Given the description of an element on the screen output the (x, y) to click on. 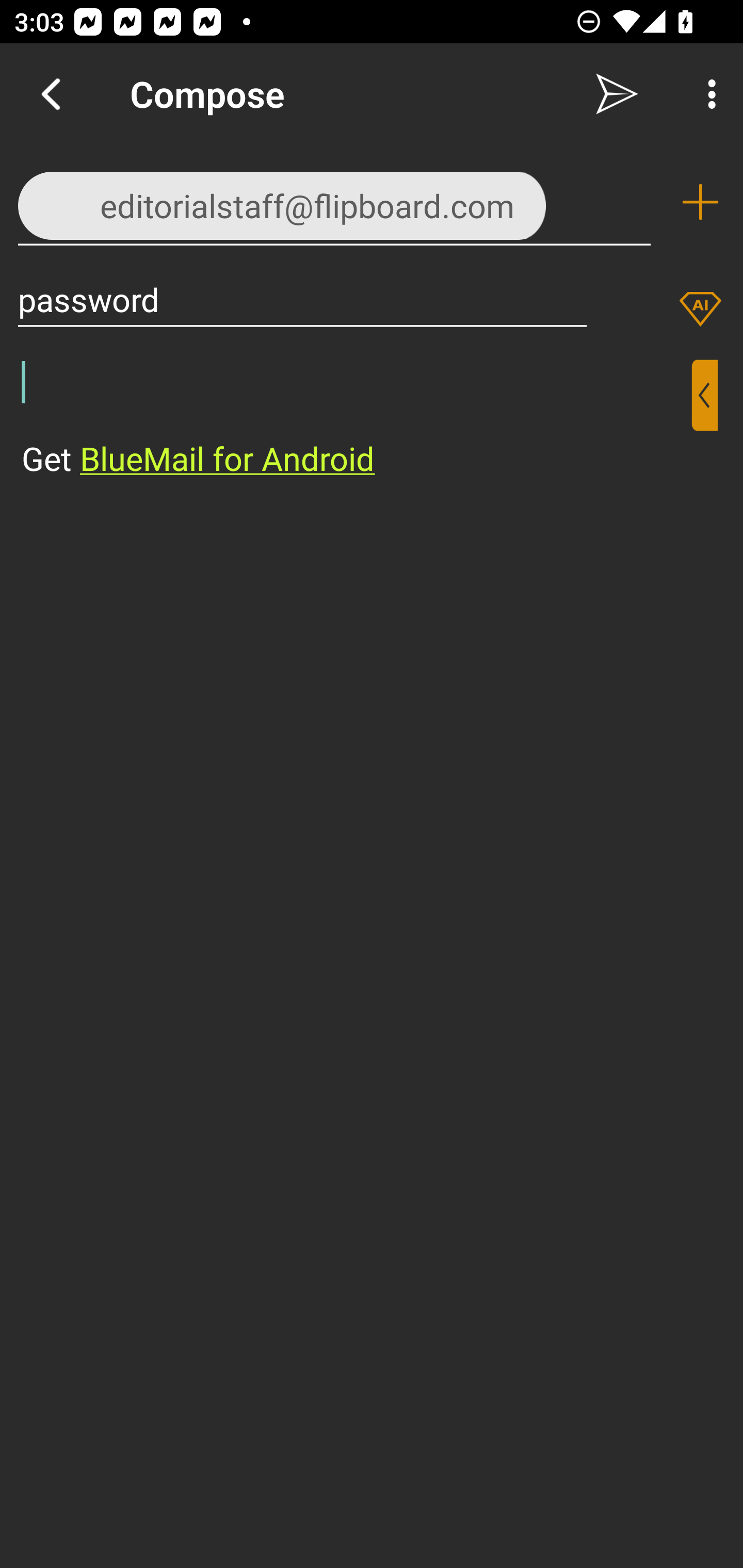
Navigate up (50, 93)
Send (616, 93)
More Options (706, 93)
<editorialstaff@flipboard.com>,  (334, 201)
Add recipient (To) (699, 201)
password (302, 299)


⁣Get BlueMail for Android ​ (355, 419)
